Given the description of an element on the screen output the (x, y) to click on. 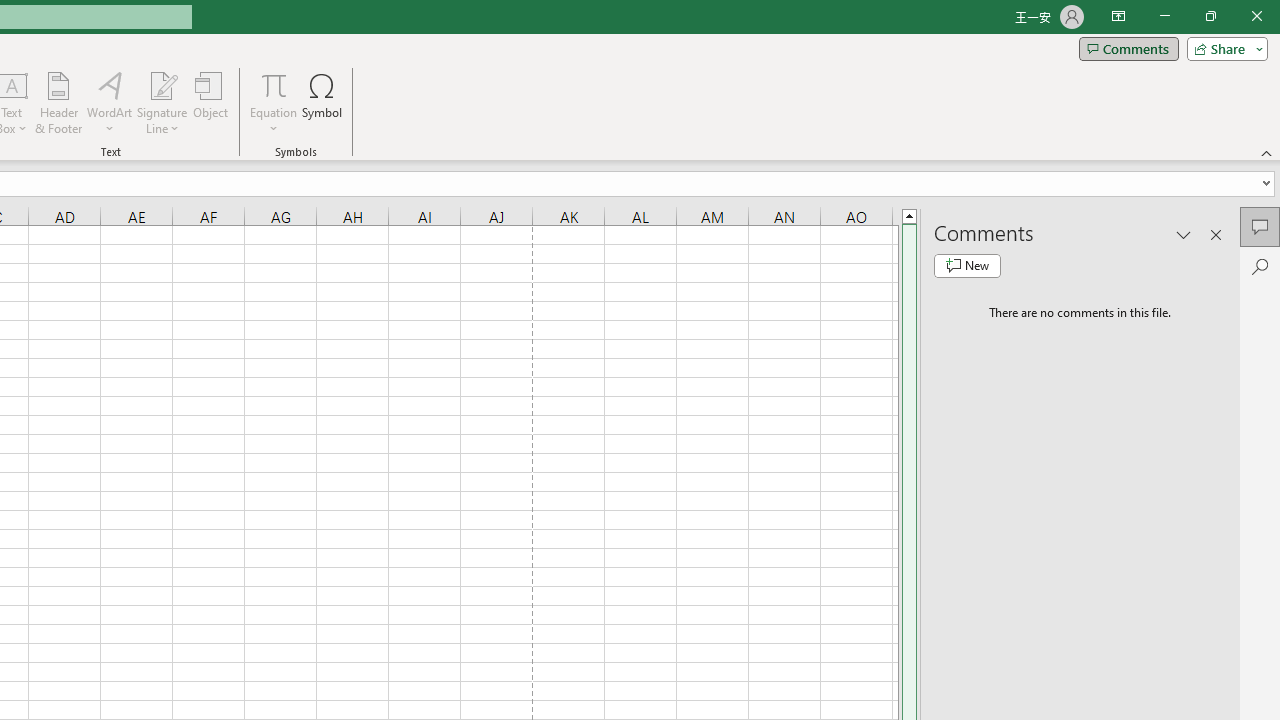
Share (1223, 48)
Object... (210, 102)
Collapse the Ribbon (1267, 152)
Search (1260, 266)
Close (1256, 16)
Restore Down (1210, 16)
Signature Line (161, 84)
